Given the description of an element on the screen output the (x, y) to click on. 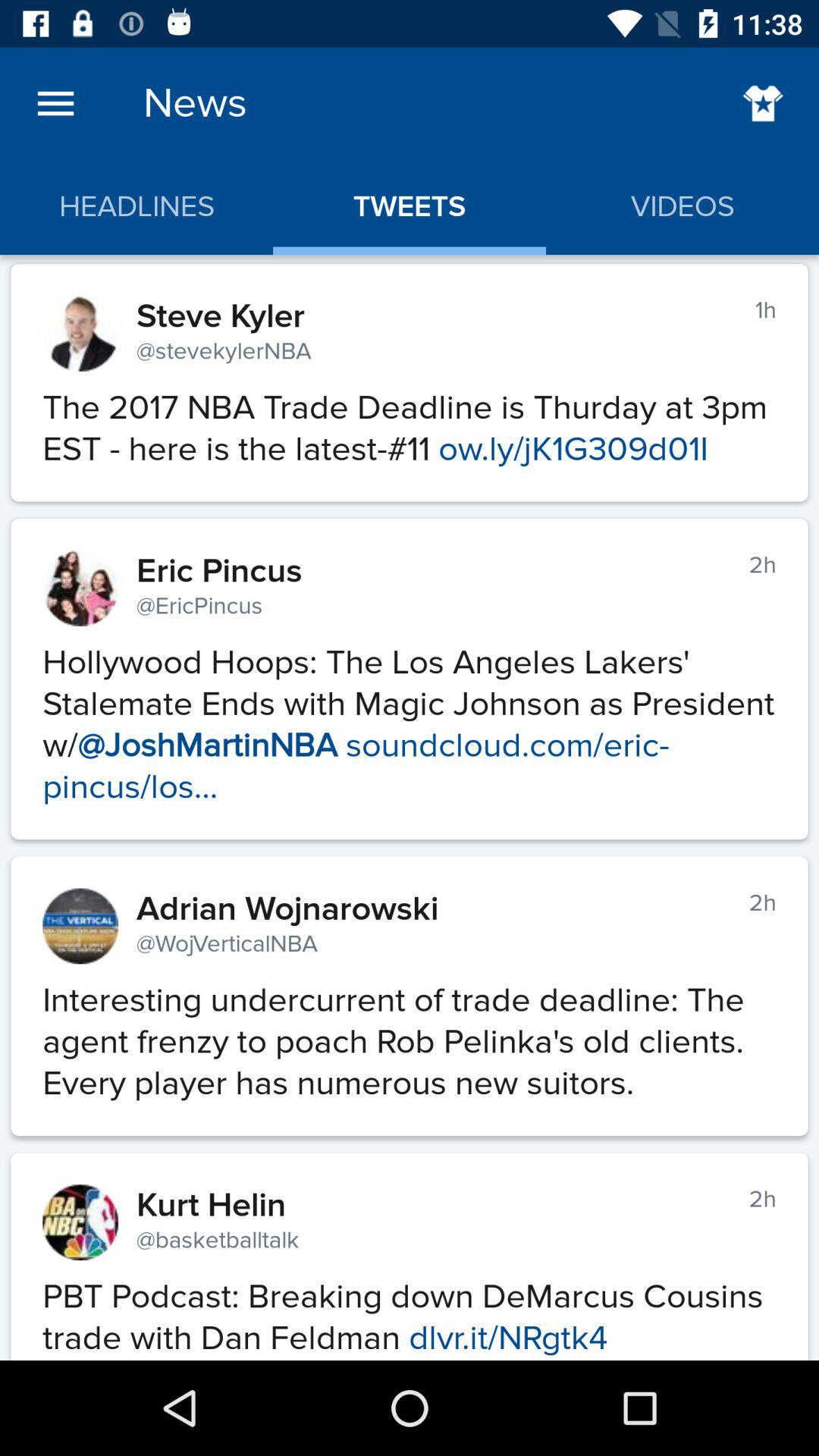
scroll until interesting undercurrent of item (409, 1033)
